Given the description of an element on the screen output the (x, y) to click on. 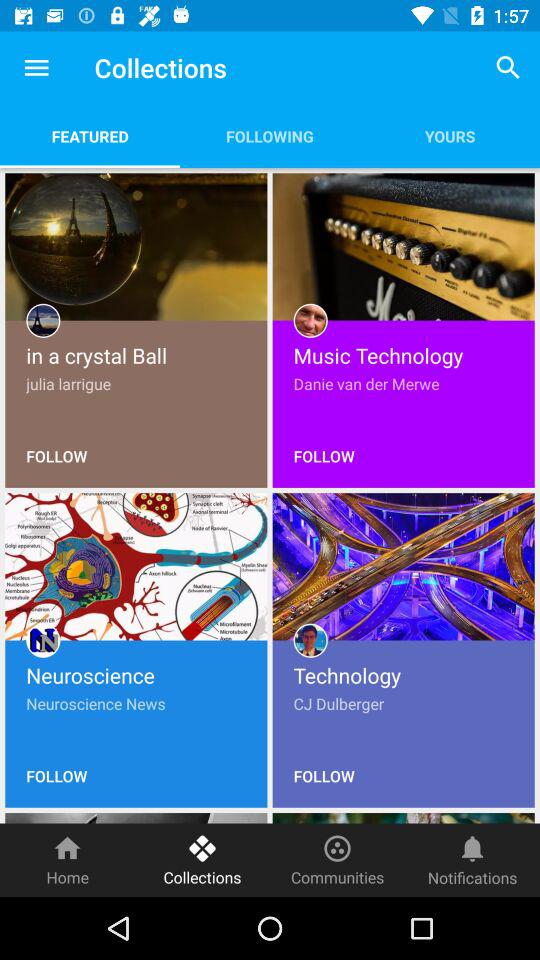
choose the item below follow (337, 859)
